Given the description of an element on the screen output the (x, y) to click on. 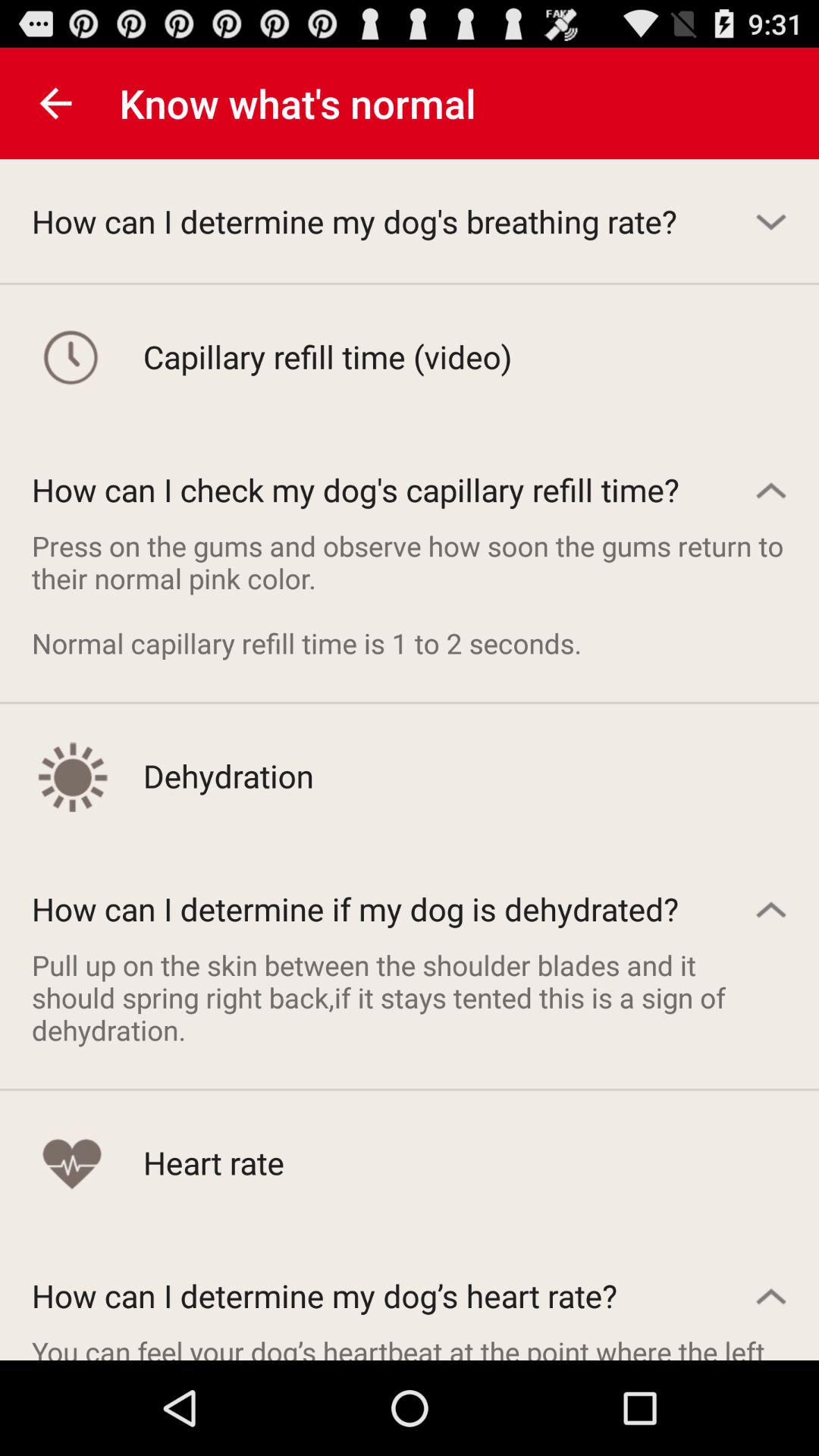
tap icon above how can i item (55, 103)
